Given the description of an element on the screen output the (x, y) to click on. 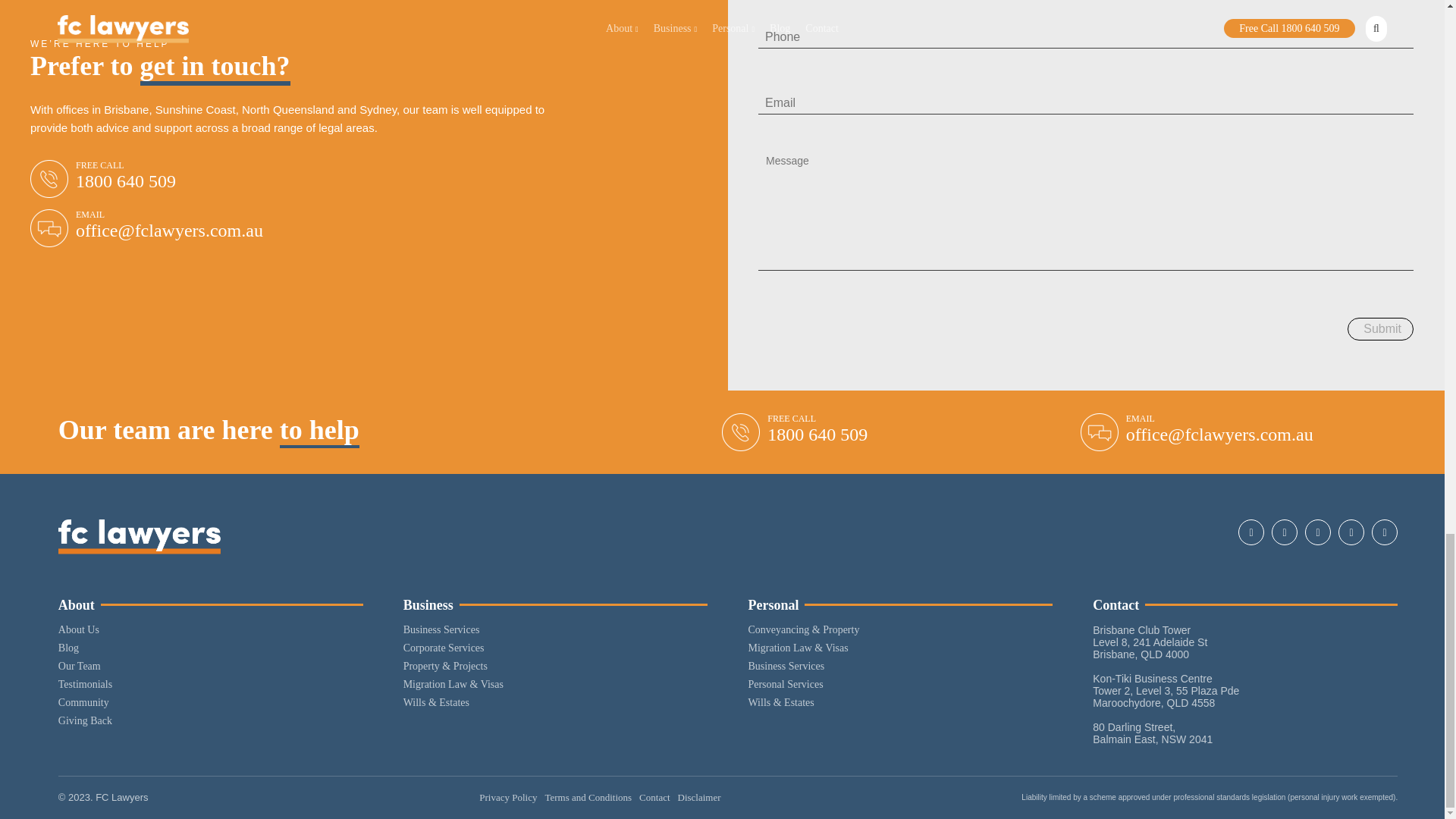
1800 640 509 (817, 435)
Submit (1380, 328)
1800 640 509 (125, 180)
Submit (1380, 328)
